Given the description of an element on the screen output the (x, y) to click on. 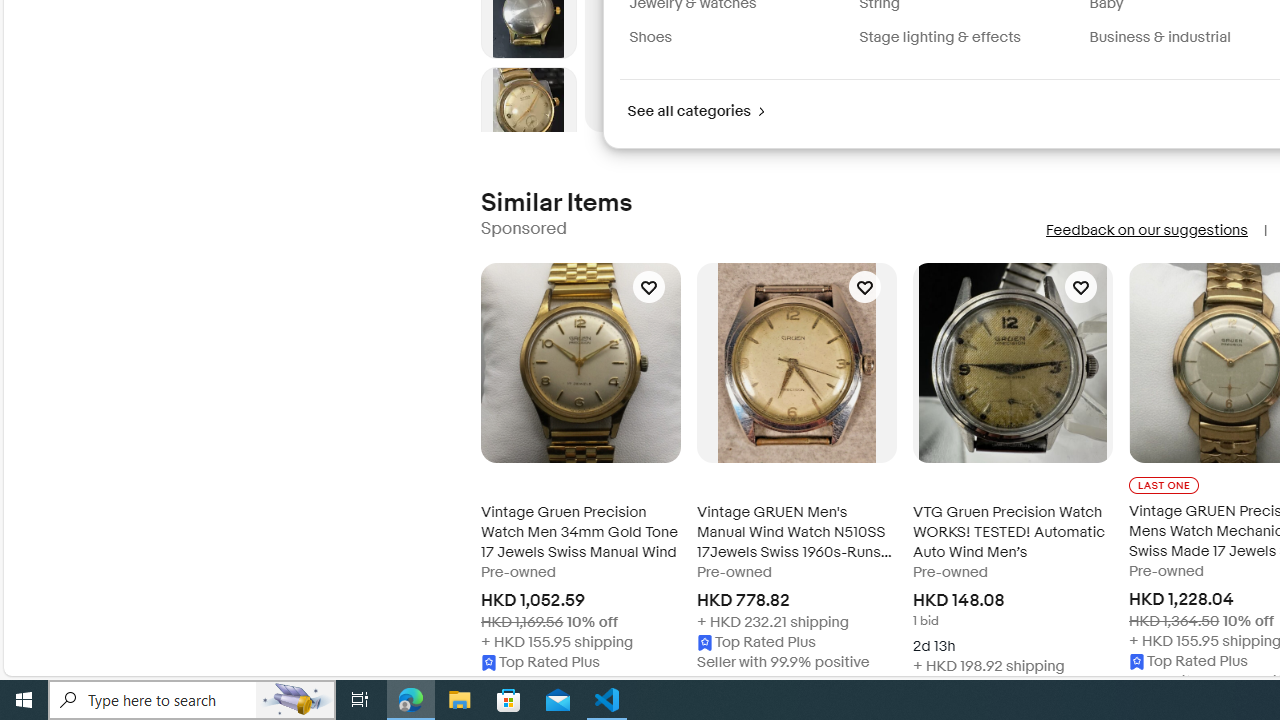
Business & industrial (1160, 37)
See all categories (695, 111)
Picture 5 of 13 (528, 114)
Next image - Item images thumbnails (528, 127)
Shoes (736, 37)
Feedback on our suggestions (1146, 229)
Stage lighting & effects (966, 37)
Picture 5 of 13 (528, 114)
Shoes (650, 37)
